Given the description of an element on the screen output the (x, y) to click on. 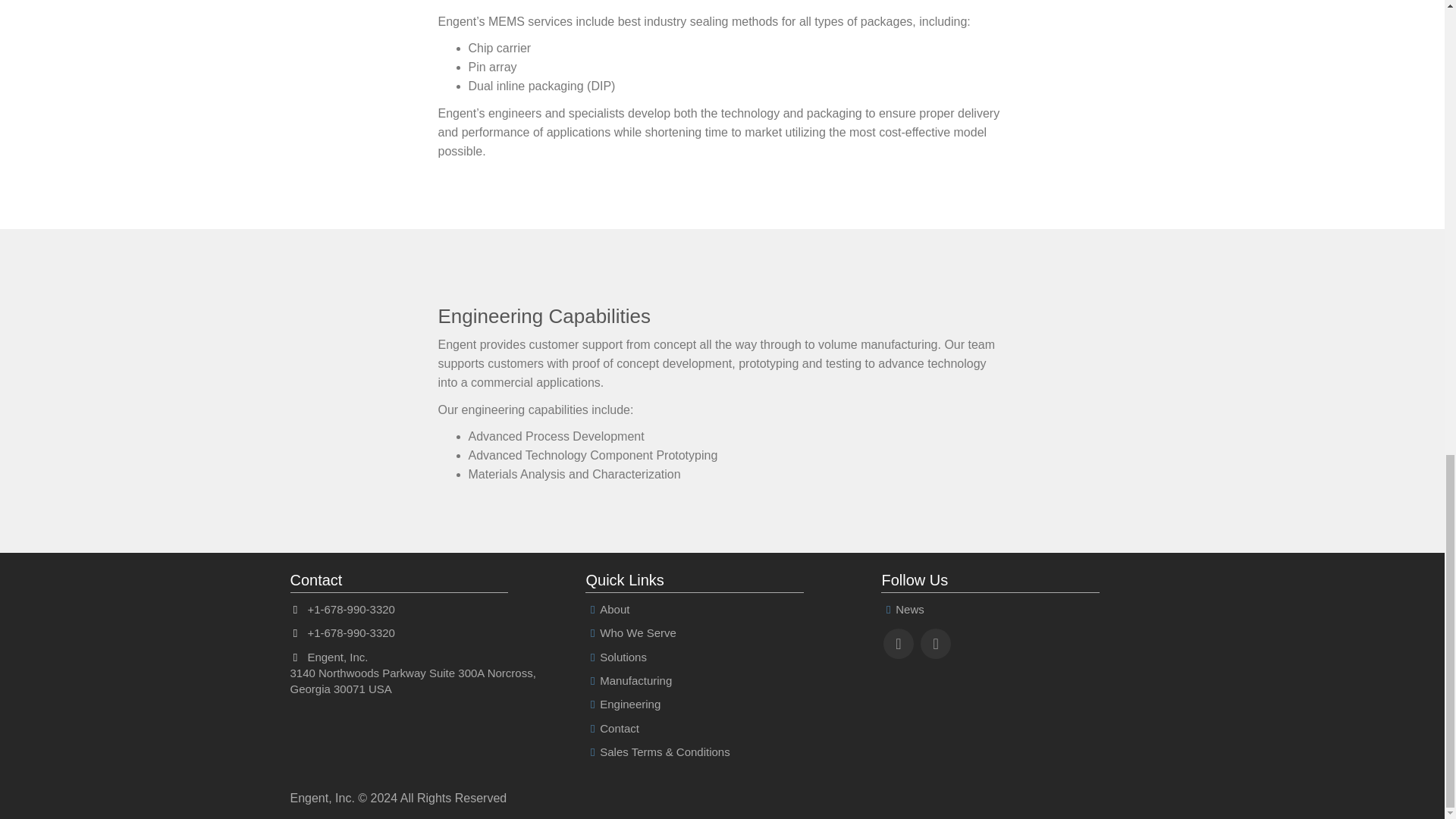
Who We Serve (630, 632)
Solutions (615, 656)
Contact (612, 727)
Manufacturing (628, 680)
Engineering (623, 703)
LinkedIn (897, 643)
About (606, 608)
News (901, 608)
Twitter (935, 643)
